Given the description of an element on the screen output the (x, y) to click on. 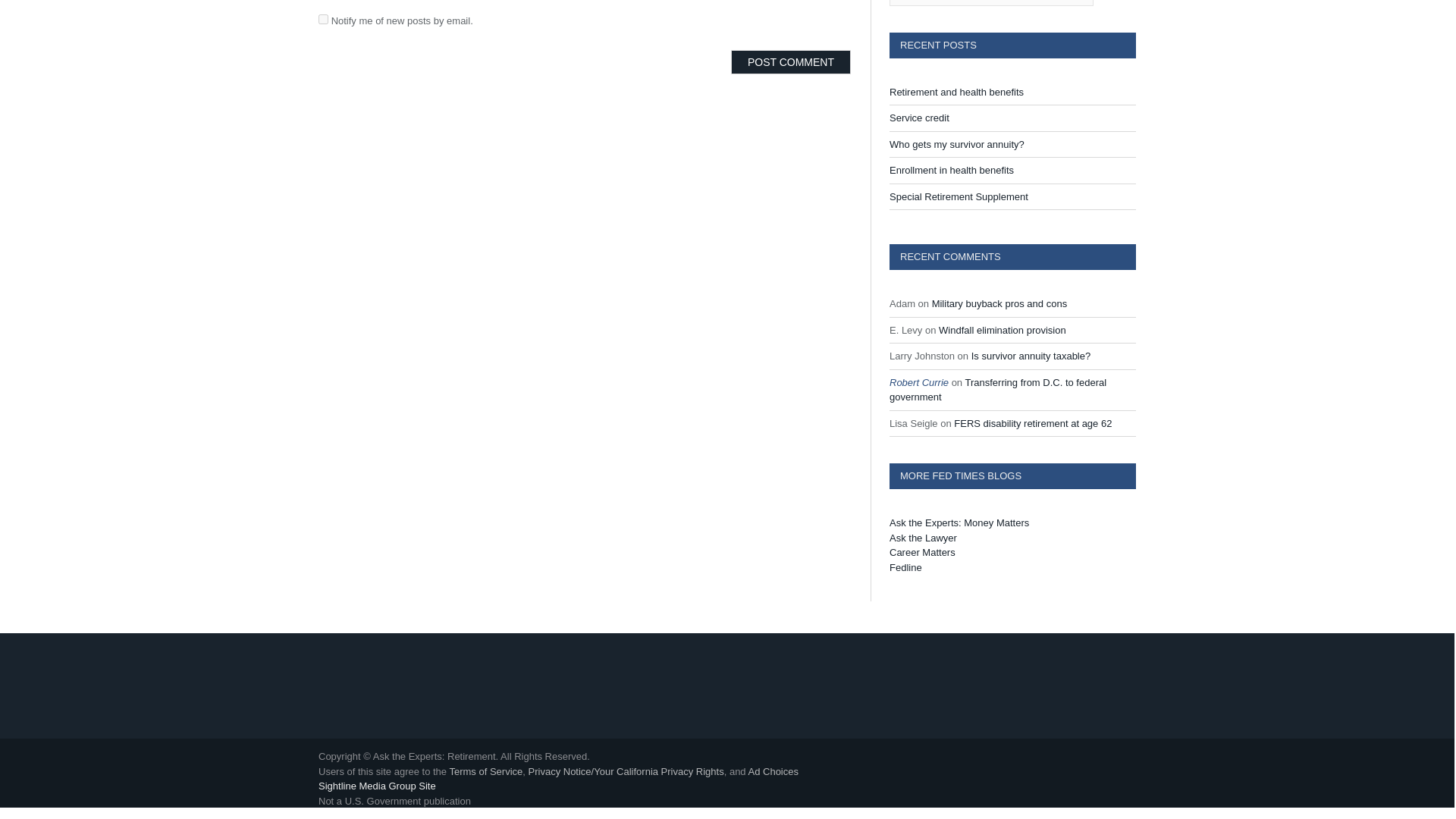
Post Comment (790, 61)
subscribe (323, 19)
